Given the description of an element on the screen output the (x, y) to click on. 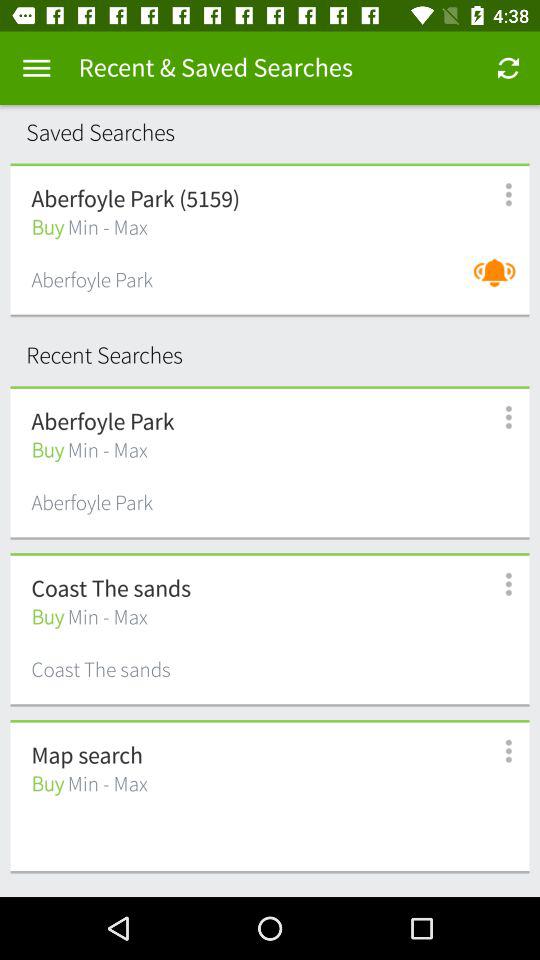
action option on the page (36, 68)
